Given the description of an element on the screen output the (x, y) to click on. 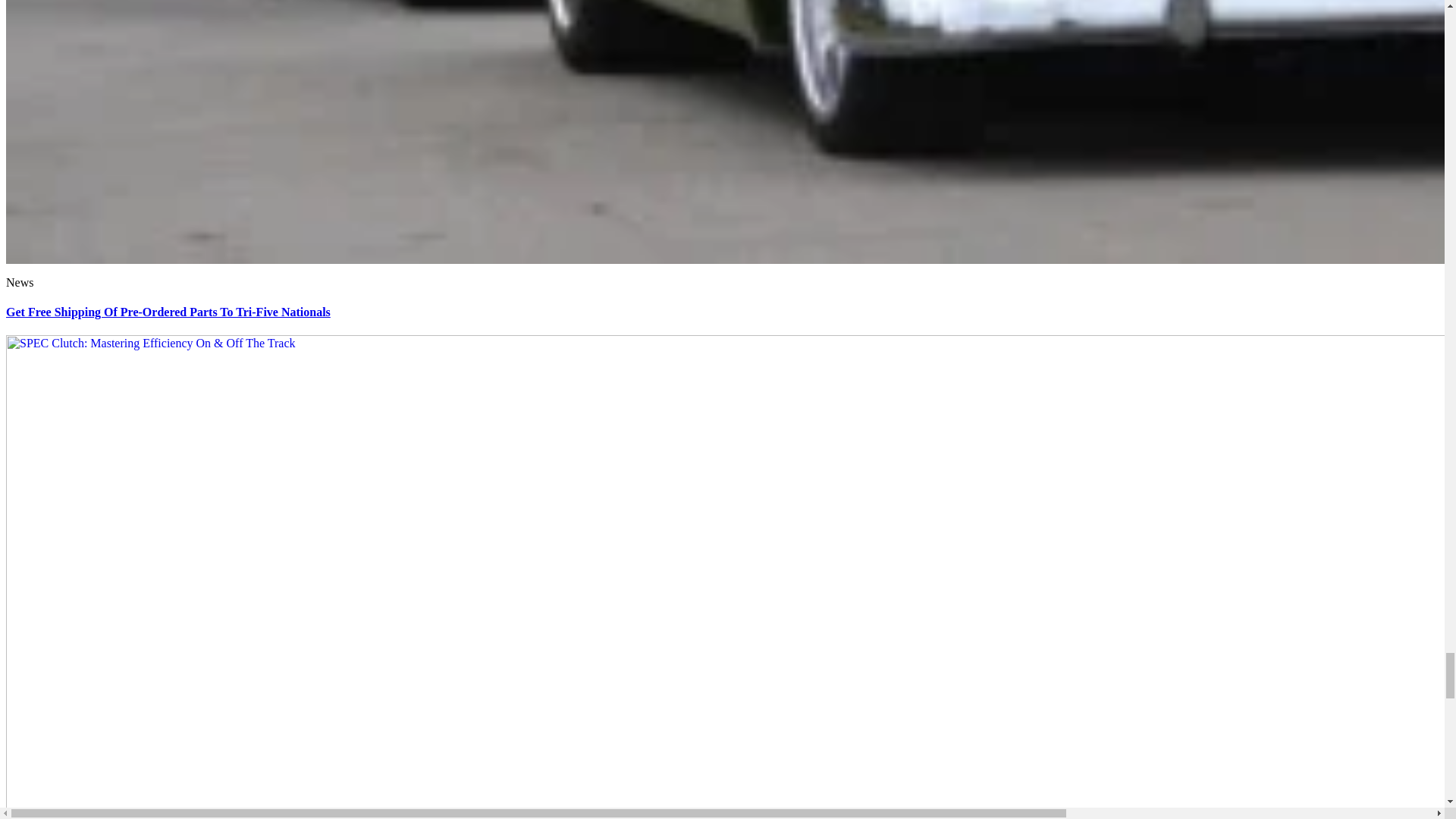
Get Free Shipping Of Pre-Ordered Parts To Tri-Five Nationals (167, 311)
